Given the description of an element on the screen output the (x, y) to click on. 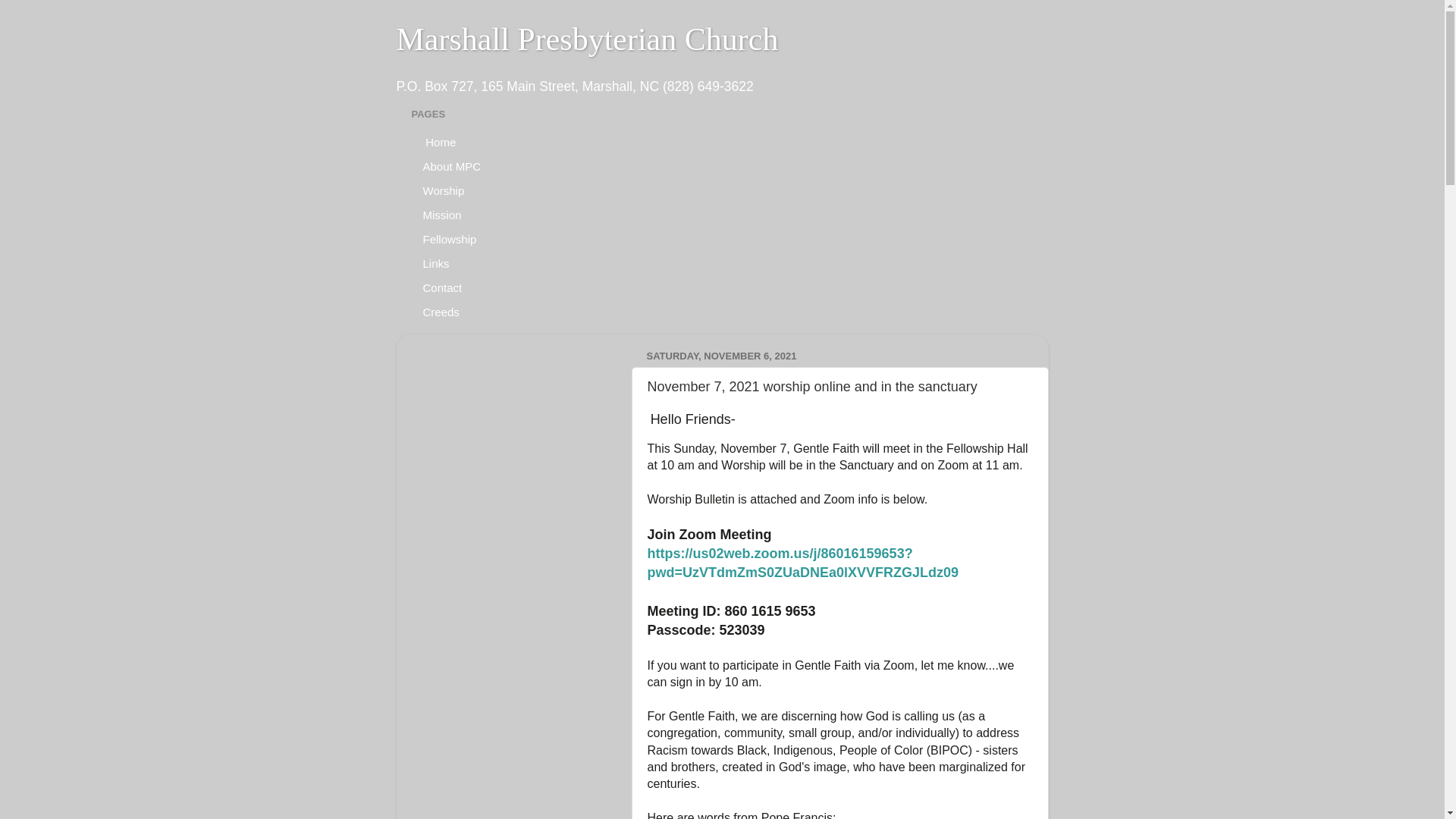
Fellowship (448, 238)
Worship (443, 190)
Mission (441, 214)
Links (435, 262)
Creeds (440, 311)
Contact (442, 287)
Marshall Presbyterian Church (586, 39)
Home (438, 141)
About MPC (451, 165)
